Given the description of an element on the screen output the (x, y) to click on. 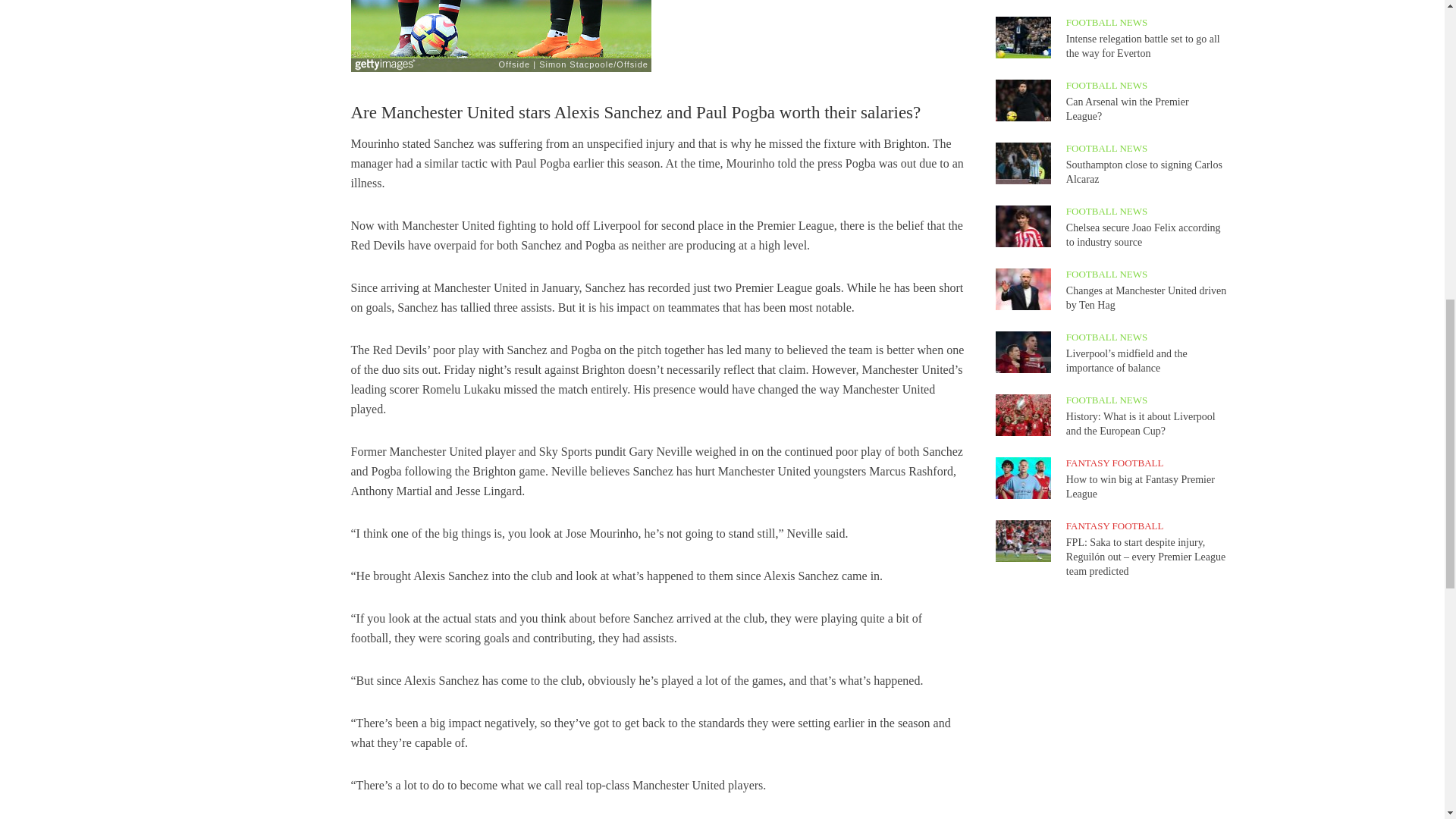
Changes at Manchester United driven by Ten Hag (1021, 287)
Chelsea secure Joao Felix according to industry source (1021, 224)
Southampton close to signing Carlos Alcaraz (1021, 162)
History: What is it about Liverpool and the European Cup? (1021, 413)
Can Arsenal win the Premier League? (1021, 99)
Intense relegation battle set to go all the way for Everton (1021, 36)
